Given the description of an element on the screen output the (x, y) to click on. 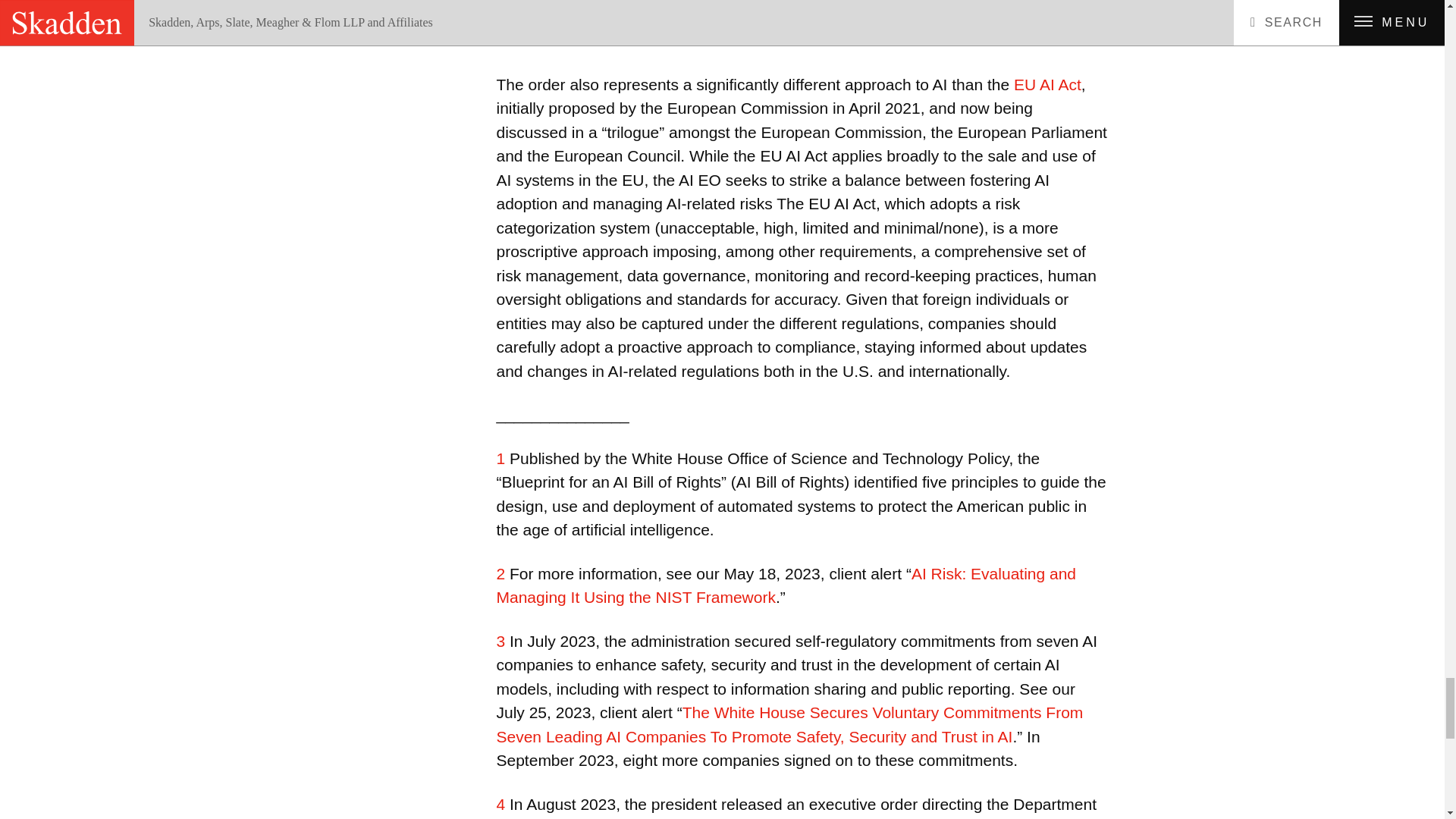
EU AI Act (1047, 84)
